Given the description of an element on the screen output the (x, y) to click on. 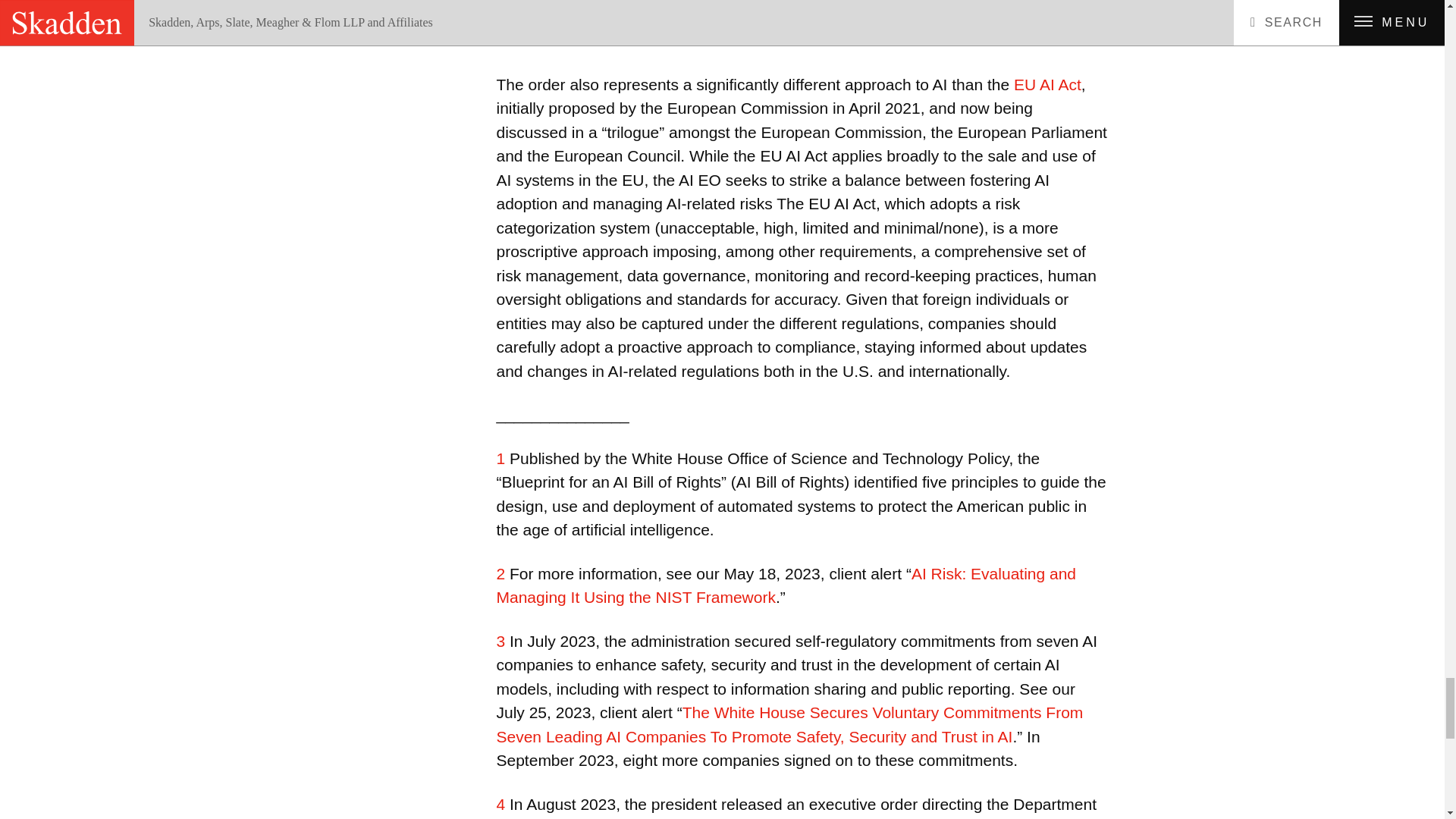
EU AI Act (1047, 84)
